Given the description of an element on the screen output the (x, y) to click on. 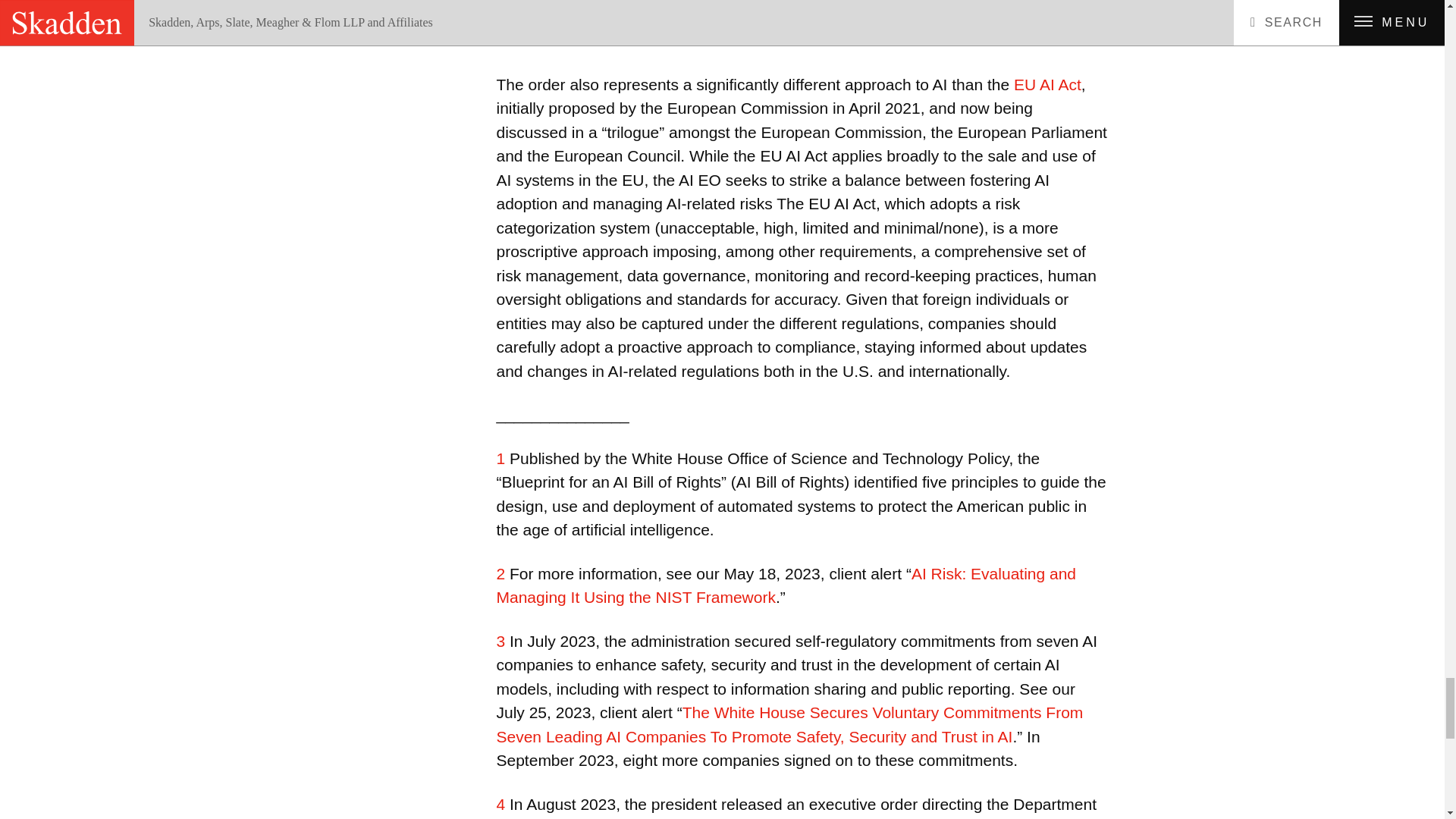
EU AI Act (1047, 84)
